Given the description of an element on the screen output the (x, y) to click on. 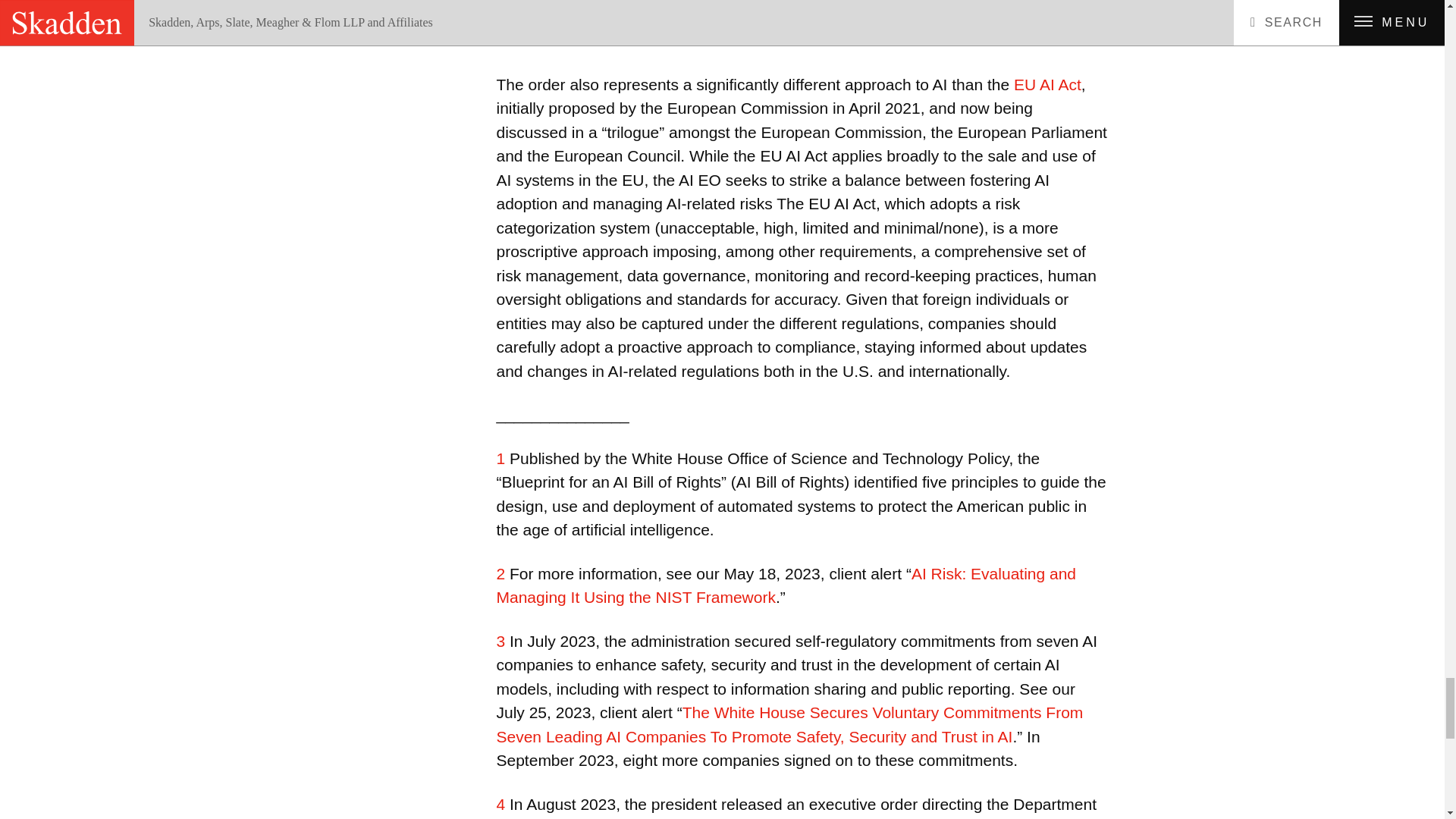
EU AI Act (1047, 84)
